Given the description of an element on the screen output the (x, y) to click on. 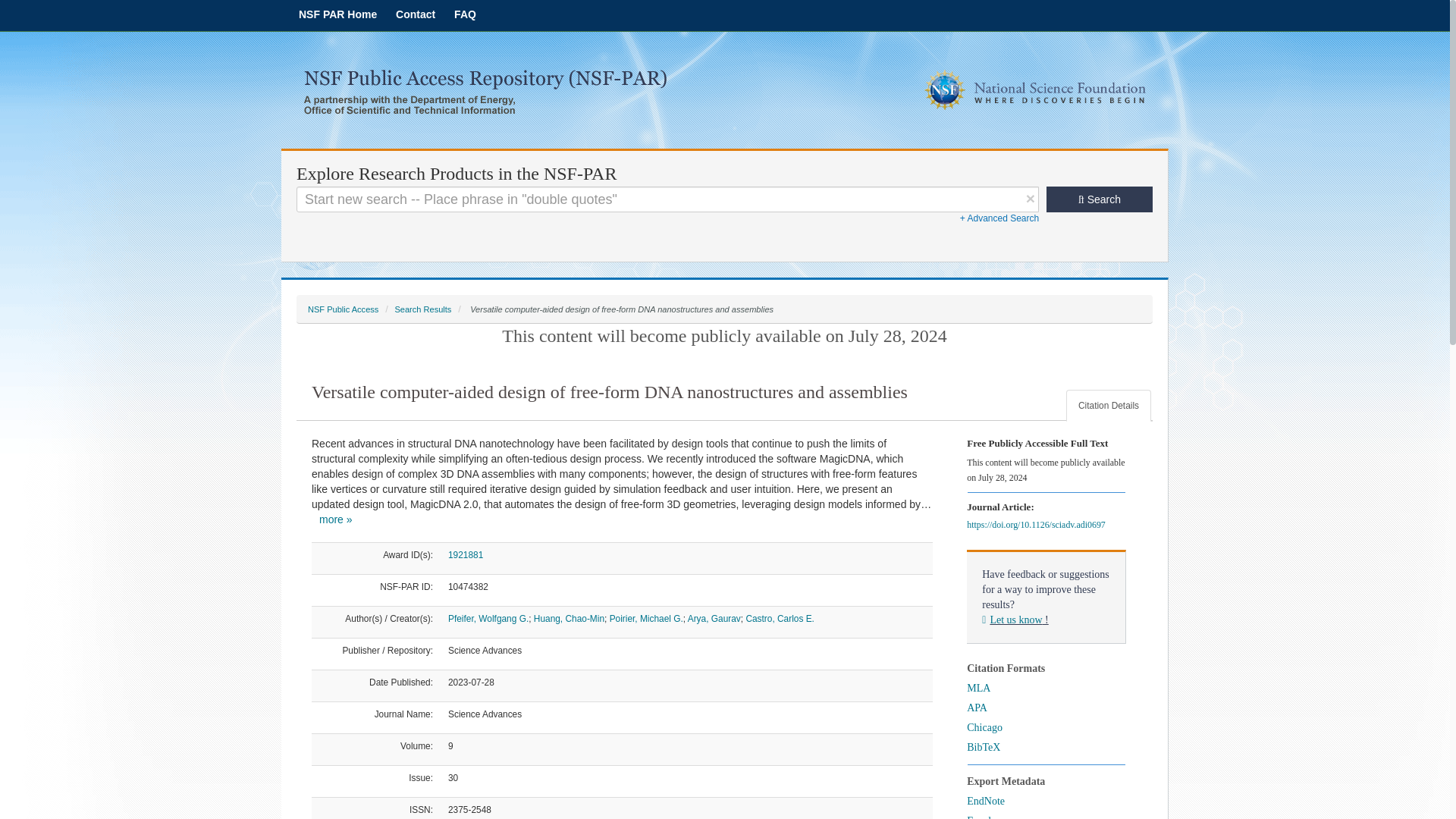
Pfeifer, Wolfgang G. (488, 618)
Citation Details (1108, 405)
NSF PAR Home (337, 14)
Huang, Chao-Min (569, 618)
NSF PAR Contact (415, 14)
Search Results (422, 308)
Arya, Gaurav (714, 618)
Contact (415, 14)
1921881 (465, 554)
NSF Public Access (342, 308)
FAQ (464, 14)
NSF PAR Home (337, 14)
Poirier, Michael G. (646, 618)
Search (1099, 199)
NSF PAR FAQ (464, 14)
